Given the description of an element on the screen output the (x, y) to click on. 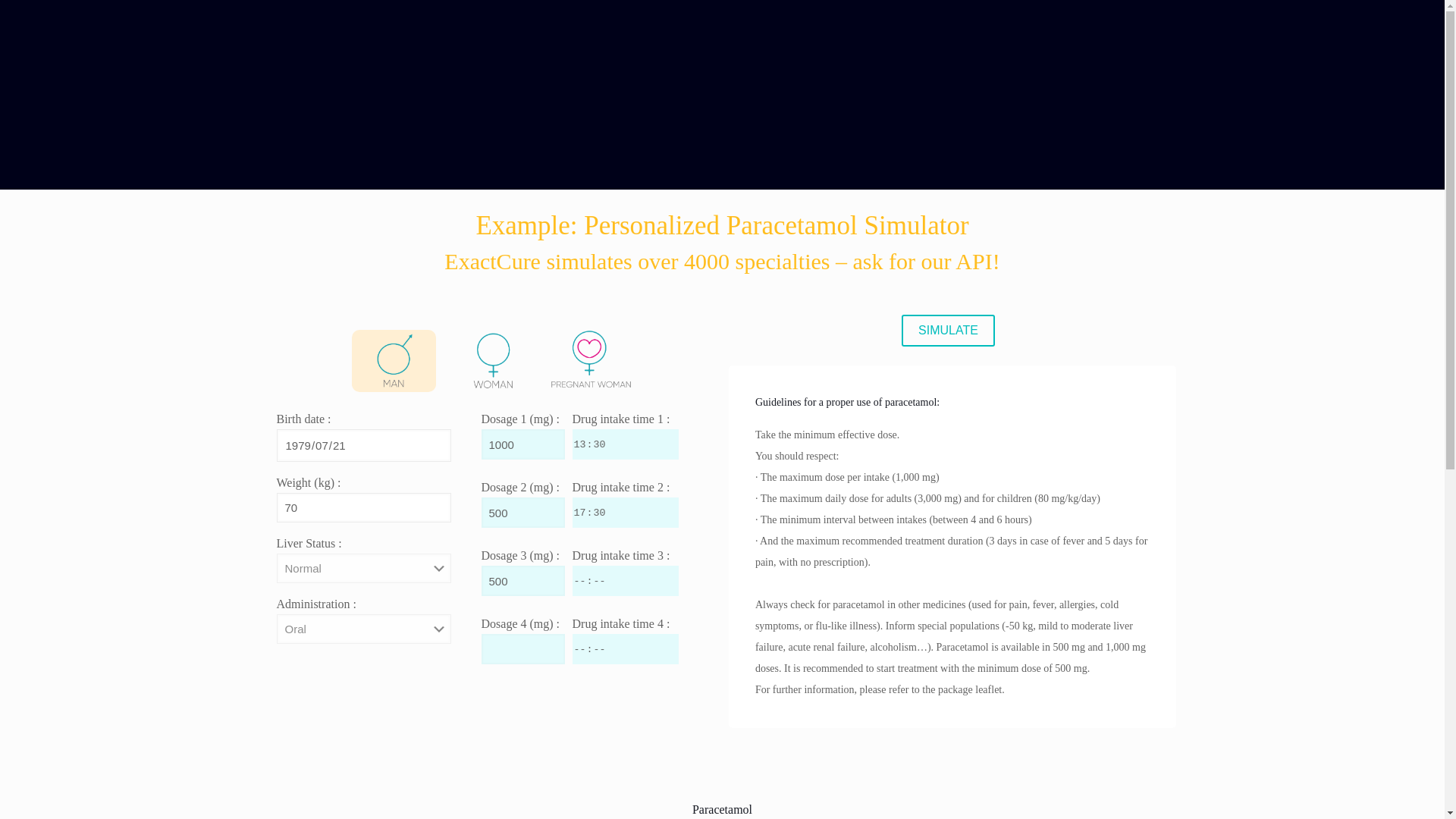
13:30 (625, 444)
1000 (522, 444)
1979-07-21 (362, 445)
SIMULATE (947, 330)
17:30 (625, 512)
70 (362, 507)
500 (522, 580)
500 (522, 512)
